Given the description of an element on the screen output the (x, y) to click on. 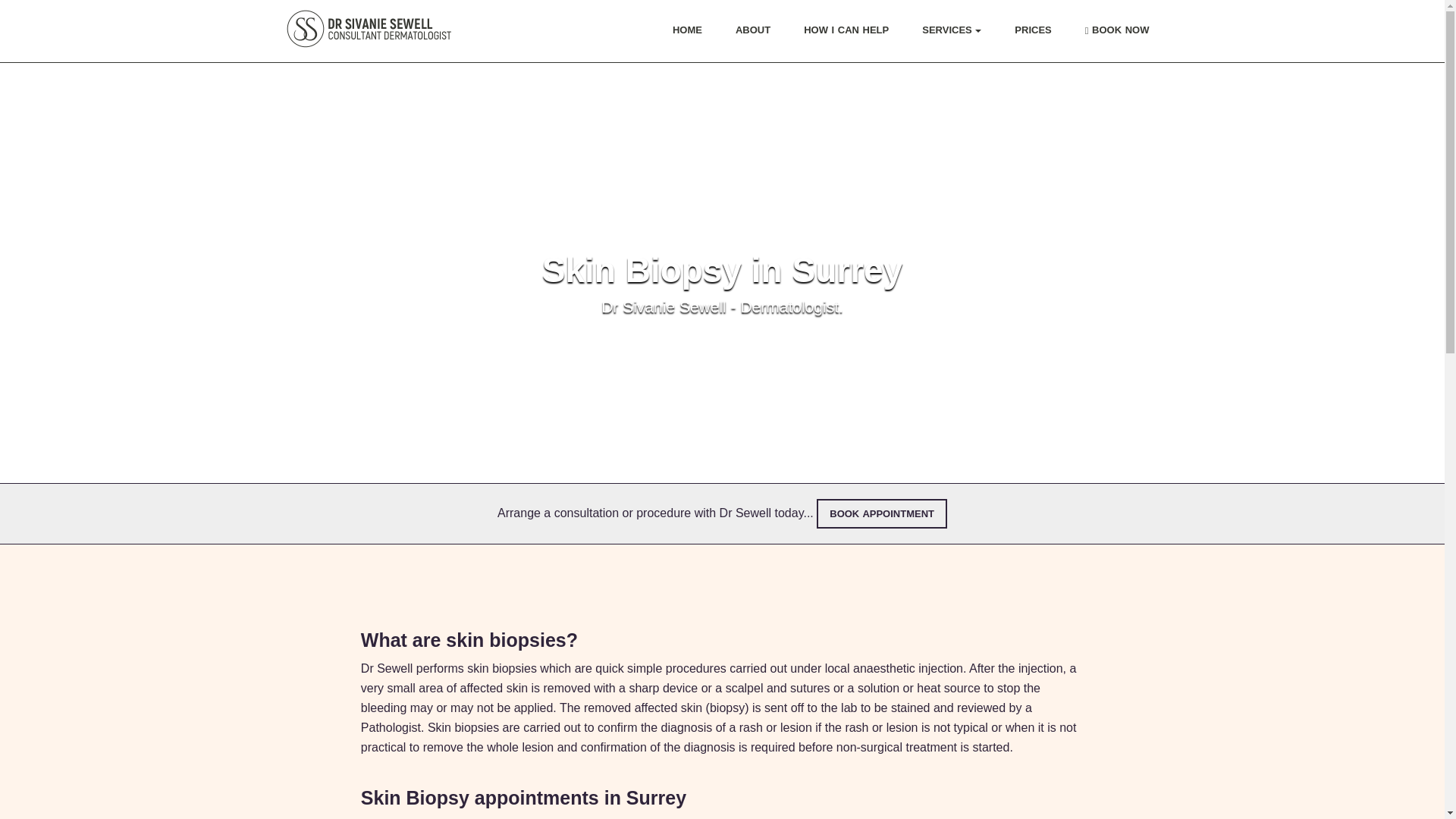
Dermatologist in Surrey (686, 30)
BOOK NOW (1116, 30)
PRICES (1032, 30)
HOME (686, 30)
Dermatological Consulting (845, 30)
SERVICES (951, 30)
Dermatologist in Surrey (369, 28)
About Dr Sivanie Sewell (752, 30)
Dermatology Prices (1032, 30)
HOW I CAN HELP (845, 30)
